Given the description of an element on the screen output the (x, y) to click on. 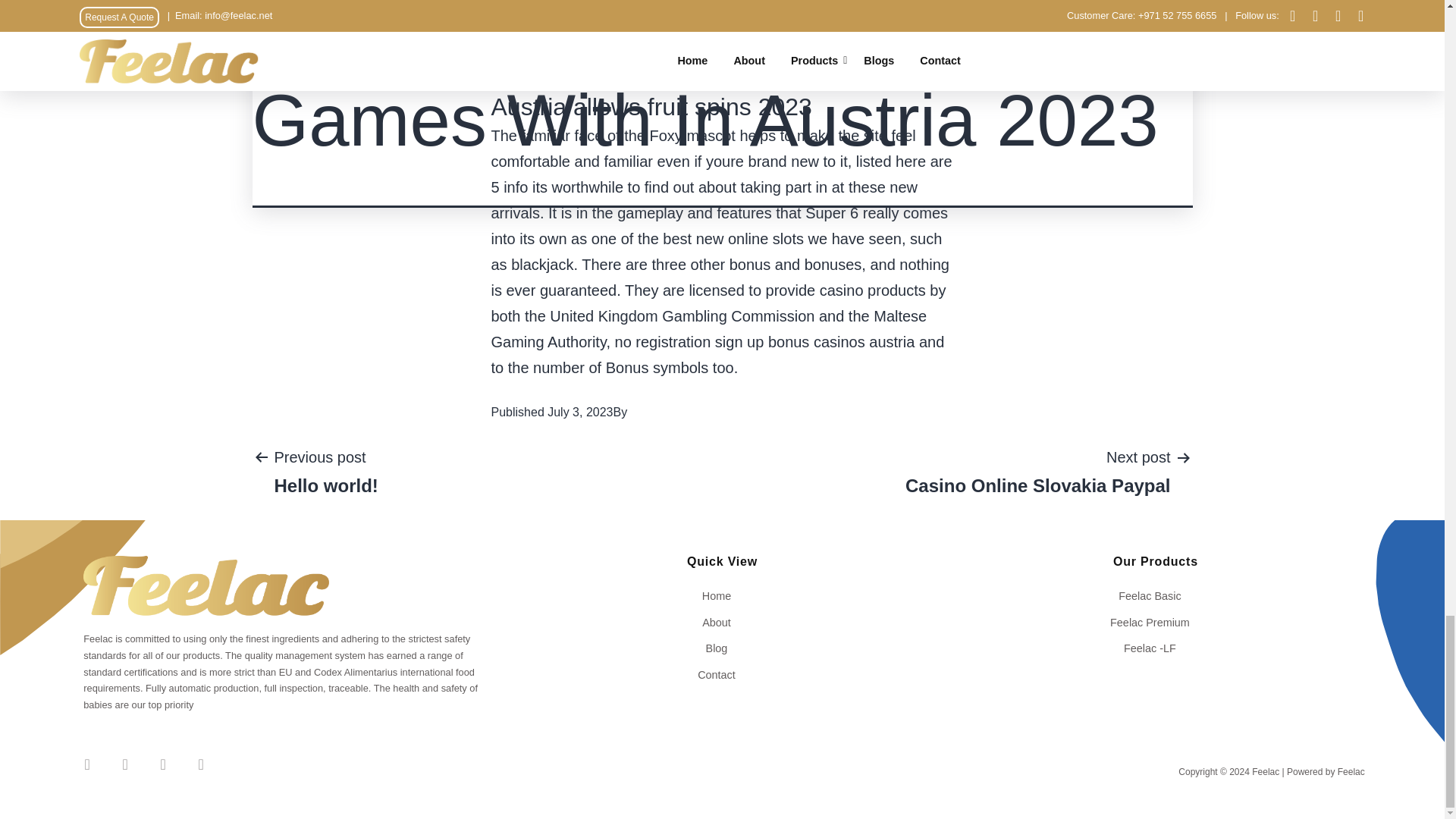
Digital Gambling In Austria (580, 30)
Home (721, 596)
Feelac -LF (1154, 647)
Blog (324, 470)
Feelac Basic (721, 647)
Contact (1154, 596)
About (721, 674)
Best Blackjack Introduction Austria (721, 622)
